Given the description of an element on the screen output the (x, y) to click on. 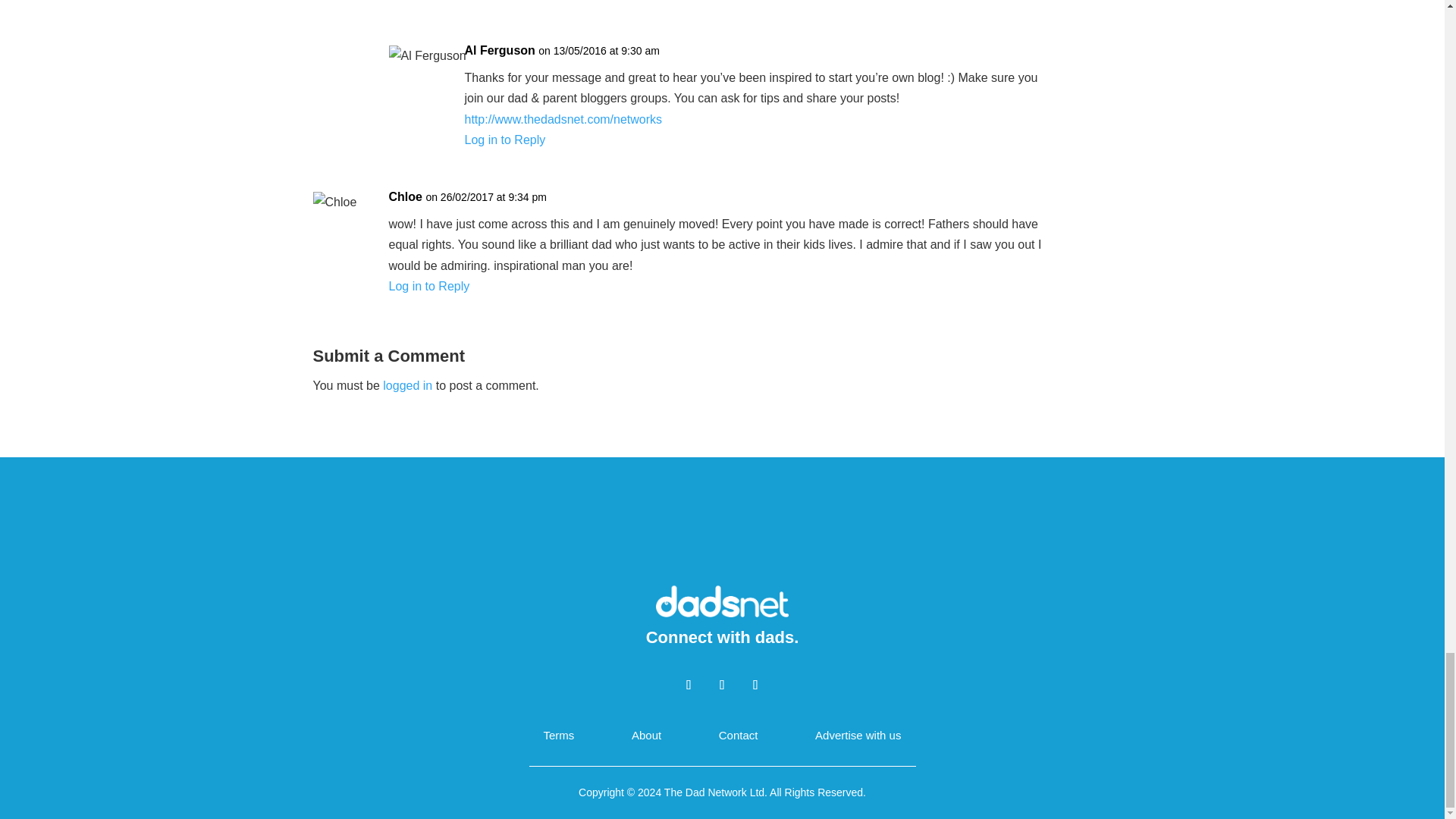
Dadsnet-Logo-White (722, 600)
3rd party ad content (722, 531)
Follow on Facebook (688, 684)
Follow on Instagram (754, 684)
Follow on X (721, 684)
